Given the description of an element on the screen output the (x, y) to click on. 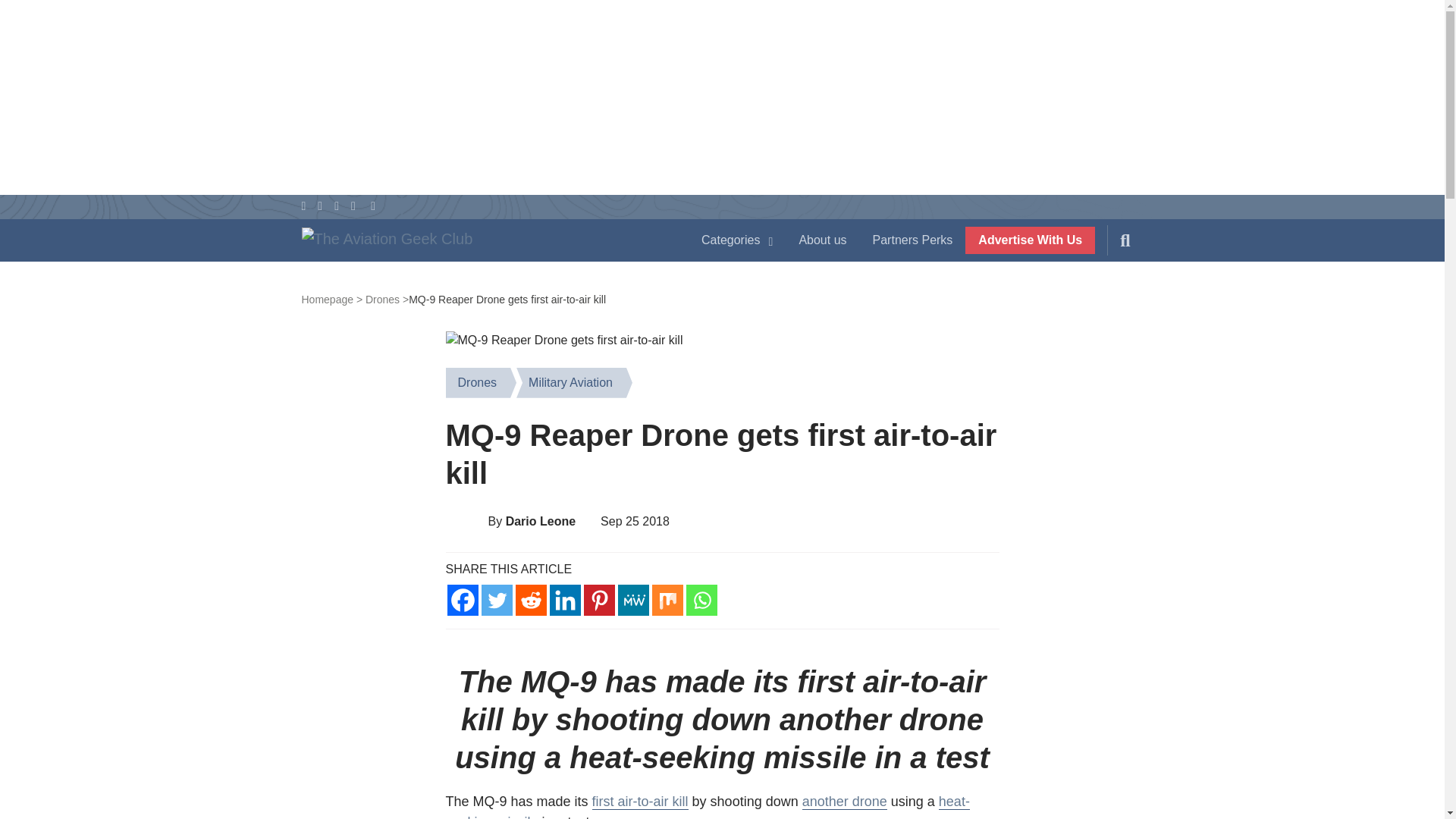
Facebook (462, 599)
Back to homepage (331, 299)
Categories (737, 239)
MQ-9 Reaper Drone gets first air-to-air kill (563, 340)
Partners Perks (913, 239)
Advertise With Us (1029, 239)
Reddit (531, 599)
About us (822, 239)
Twitter (496, 599)
Back to Home (485, 242)
